Given the description of an element on the screen output the (x, y) to click on. 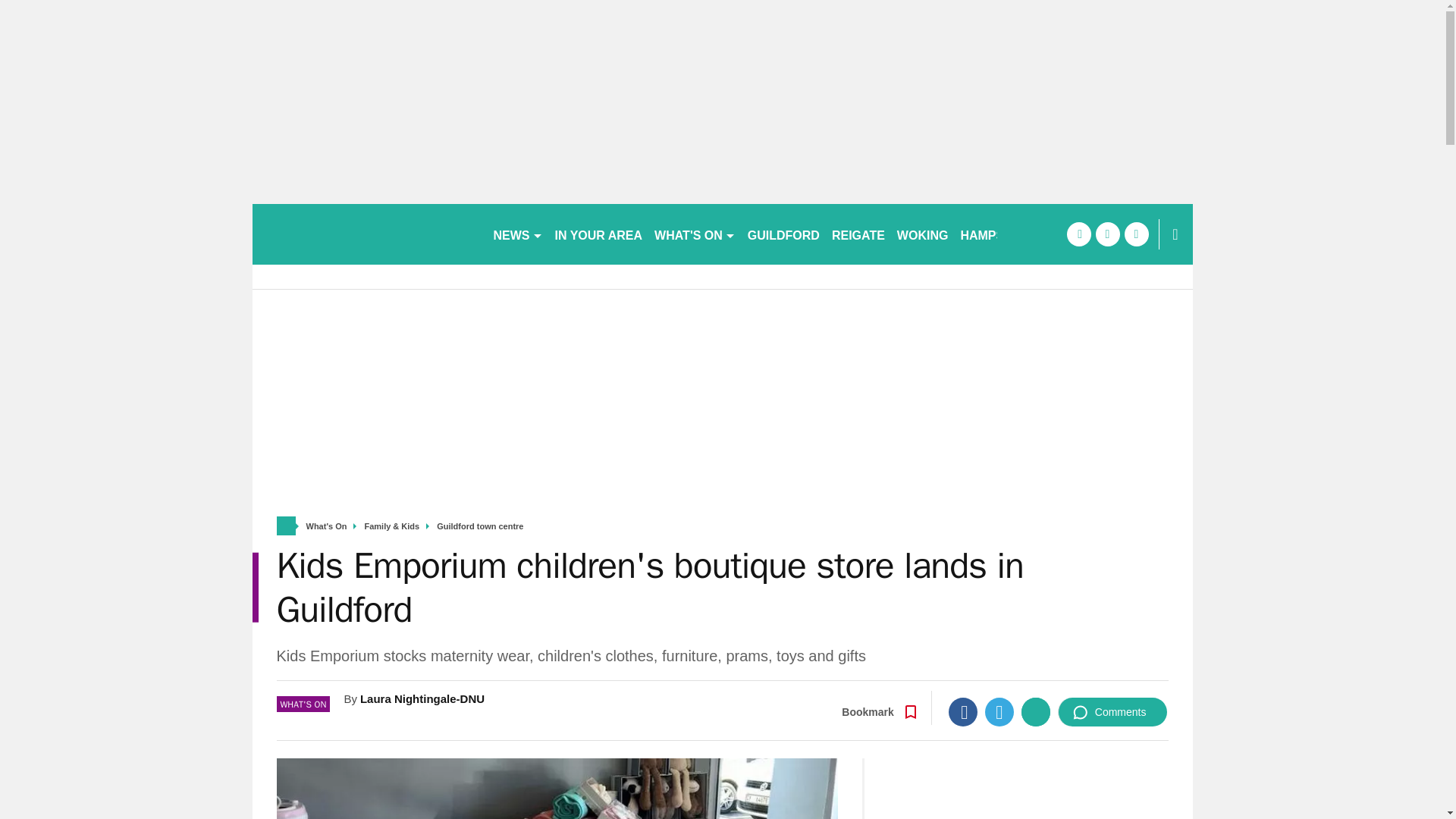
NEWS (517, 233)
IN YOUR AREA (598, 233)
Comments (1112, 711)
GUILDFORD (783, 233)
instagram (1136, 233)
HAMPSHIRE (996, 233)
getsurrey (365, 233)
Facebook (962, 711)
Twitter (999, 711)
REIGATE (858, 233)
